Given the description of an element on the screen output the (x, y) to click on. 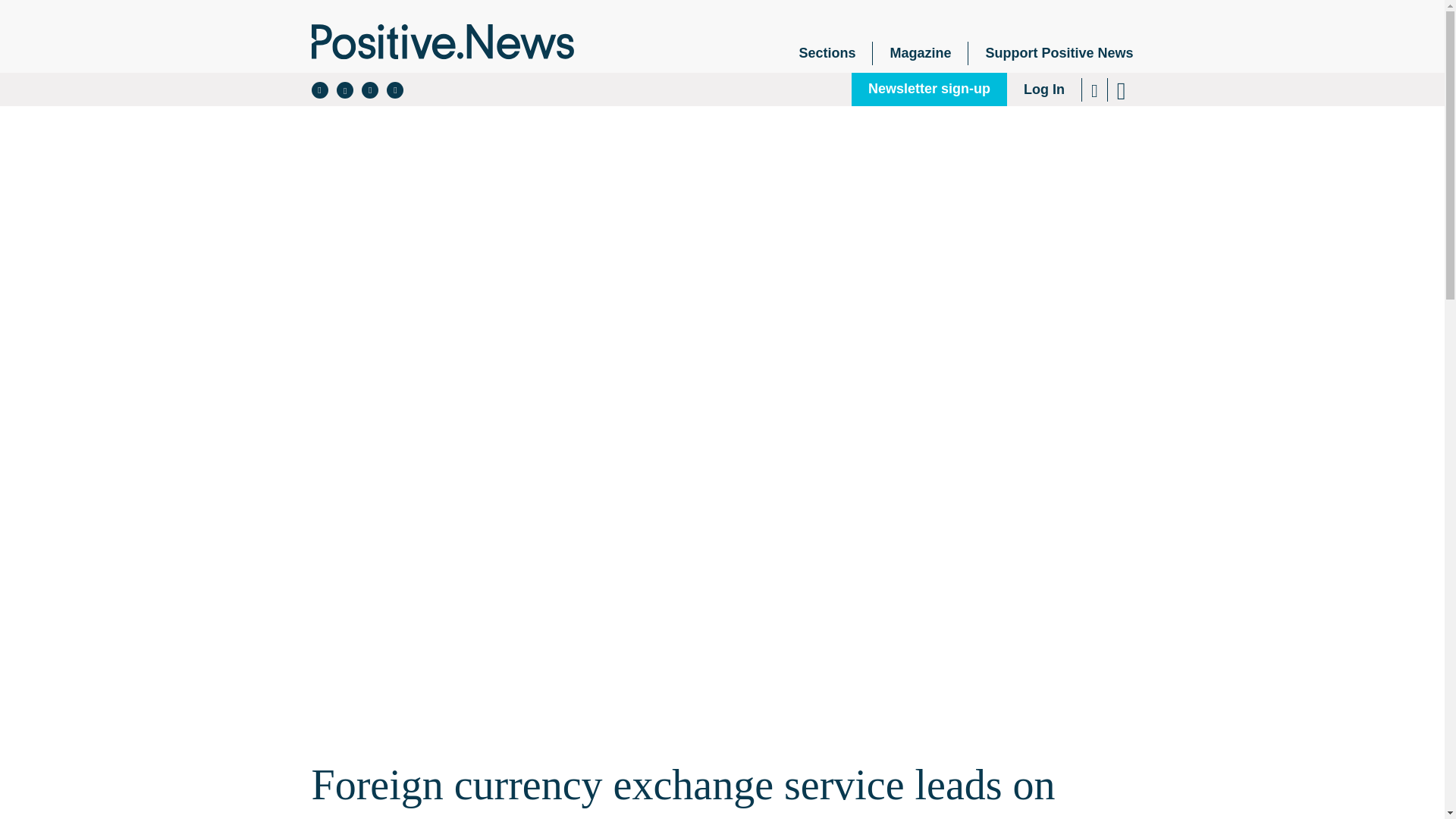
Sections (826, 53)
Magazine (920, 53)
Newsletter sign-up (929, 89)
Support Positive News (1050, 53)
Log In (1044, 89)
